Given the description of an element on the screen output the (x, y) to click on. 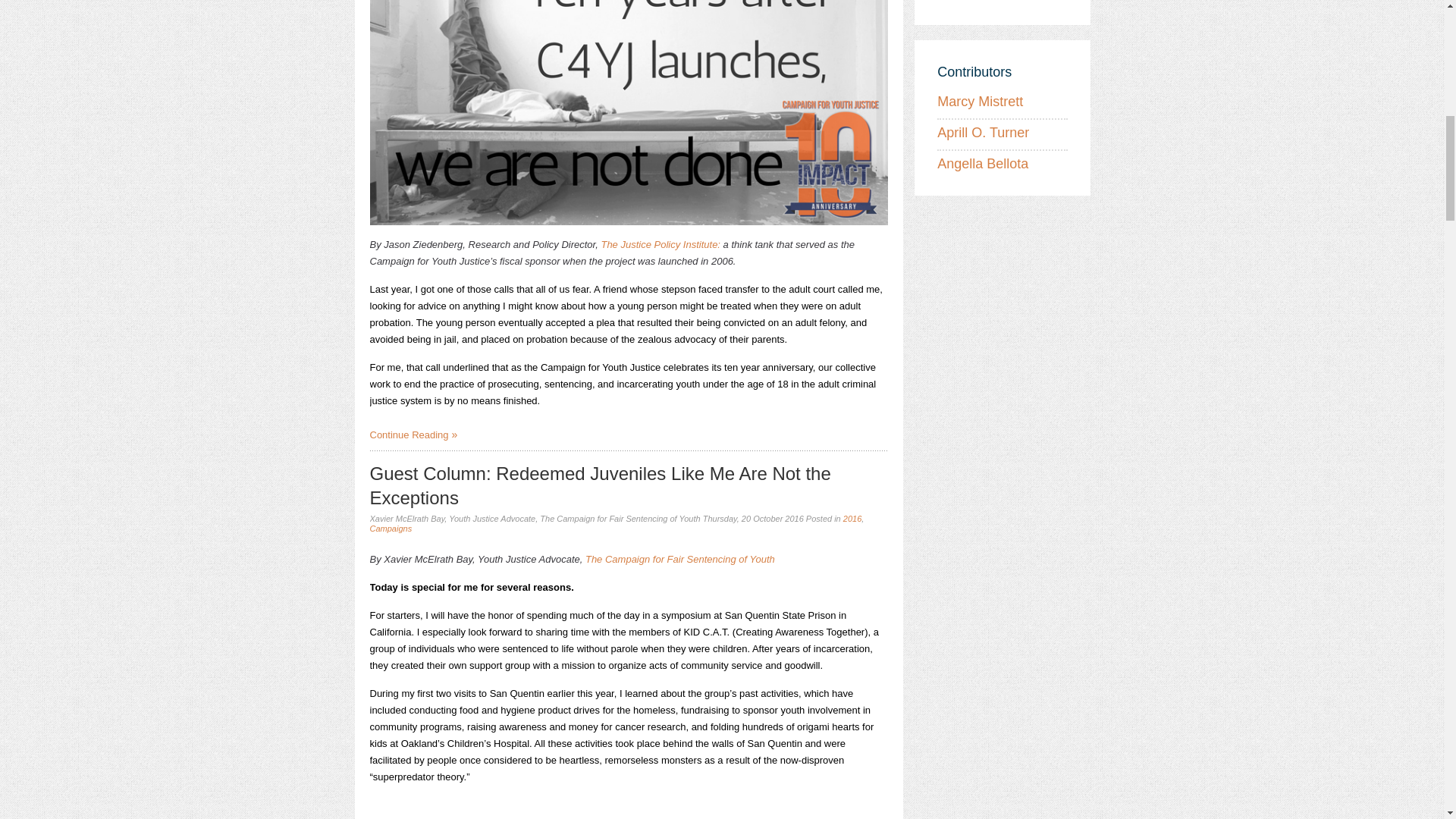
2016 (852, 518)
The (608, 244)
Angella Bellota (982, 163)
Aprill O. Turner (983, 132)
Justice Policy Institute: (670, 244)
Continue Reading (413, 434)
Marcy Mistrett (980, 101)
